Given the description of an element on the screen output the (x, y) to click on. 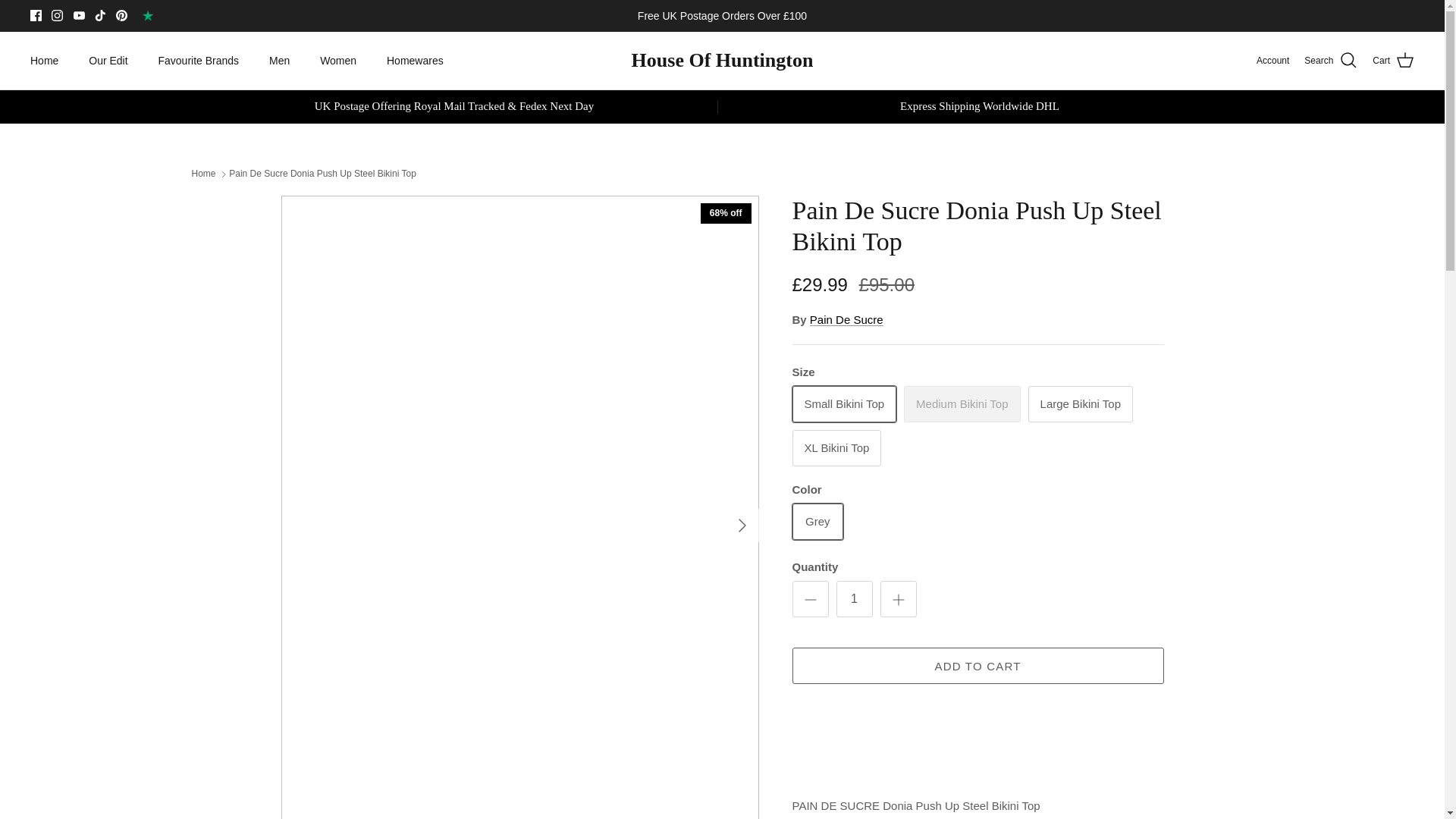
Homewares (414, 60)
Youtube (79, 15)
Plus (897, 598)
Instagram (56, 15)
Men (279, 60)
House Of Huntington (722, 60)
Youtube (79, 15)
RIGHT (741, 525)
Cart (1393, 60)
Facebook (36, 15)
